Given the description of an element on the screen output the (x, y) to click on. 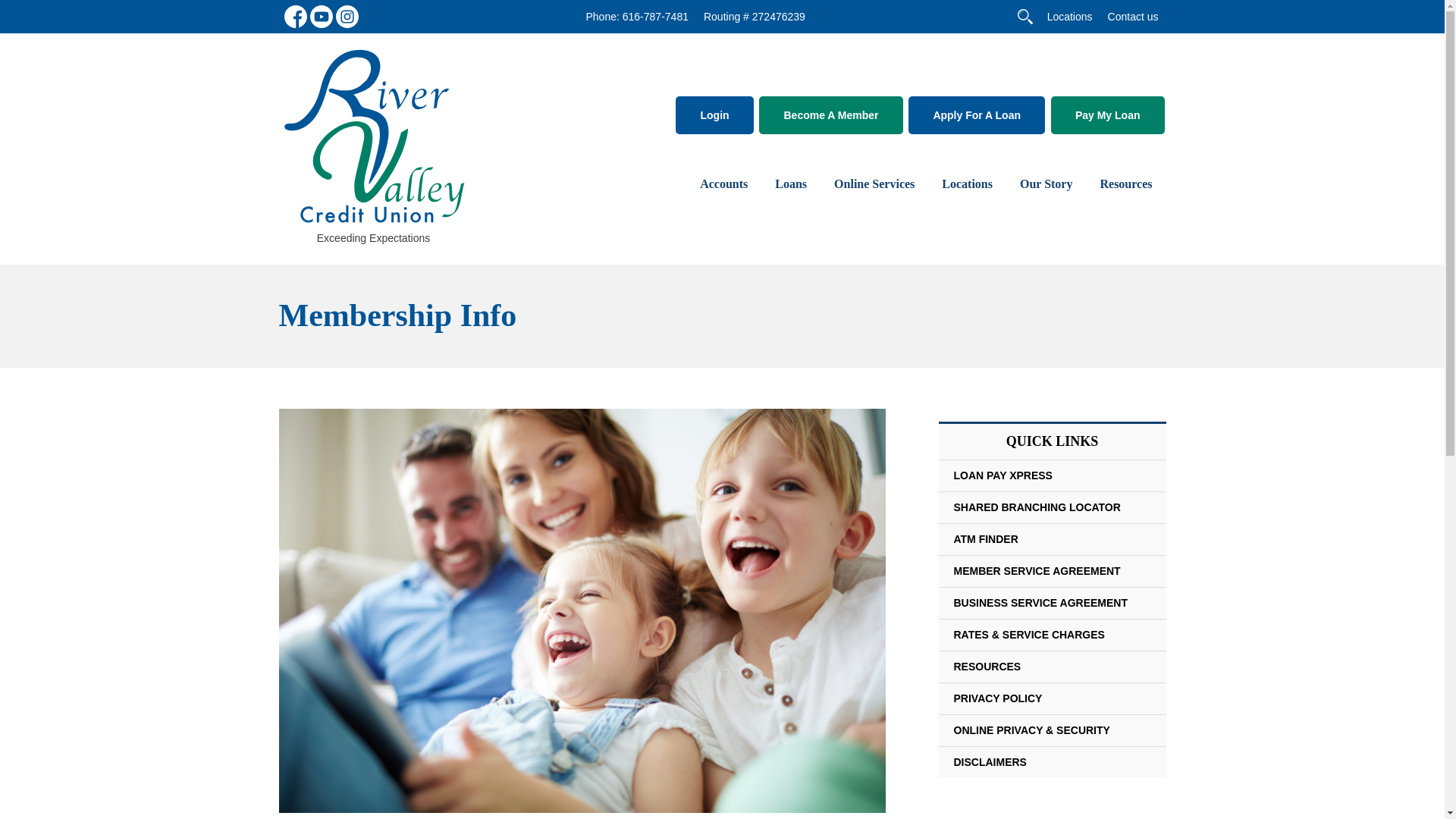
Accounts (723, 183)
Loans (791, 183)
Exceeding Expectations (373, 143)
Locations (1069, 15)
Become A Member (830, 115)
Contact us (1132, 15)
Apply For A Loan (976, 115)
Phone: 616-787-7481 (636, 17)
Login (713, 115)
Pay My Loan (1107, 115)
